Given the description of an element on the screen output the (x, y) to click on. 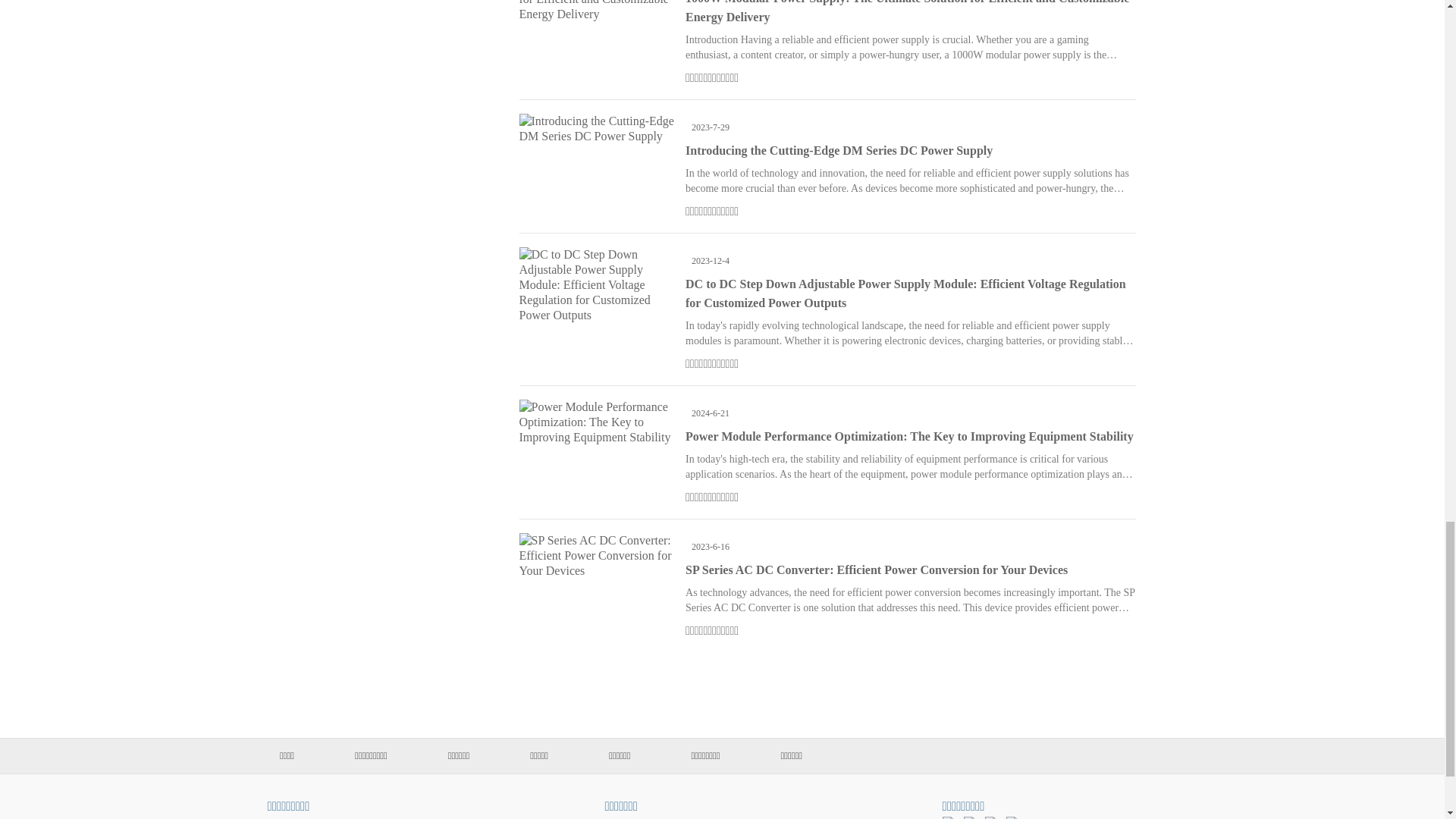
Introducing the Cutting-Edge DM Series DC Power Supply (838, 150)
